Given the description of an element on the screen output the (x, y) to click on. 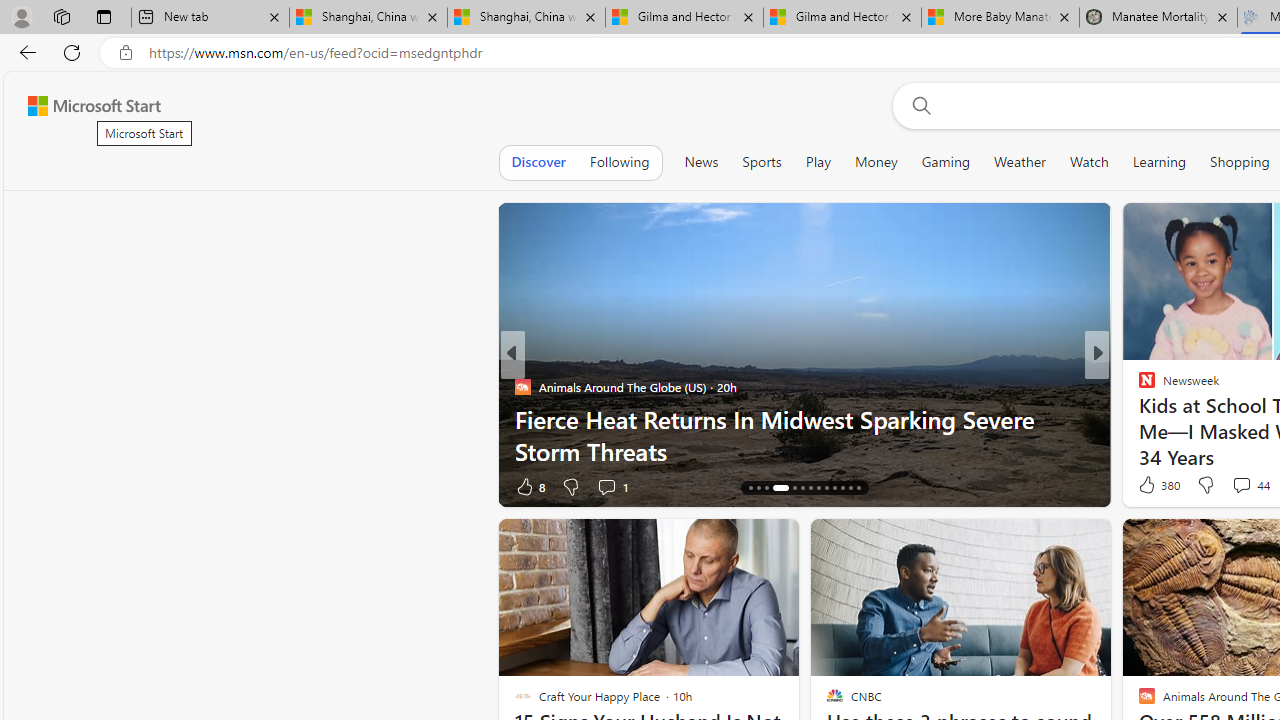
AutomationID: tab-14 (750, 487)
crypto Eri (1138, 386)
8 Like (528, 486)
View comments 44 Comment (1249, 484)
TODAY (1138, 386)
View comments 3 Comment (1234, 485)
MUO (1138, 418)
